Given the description of an element on the screen output the (x, y) to click on. 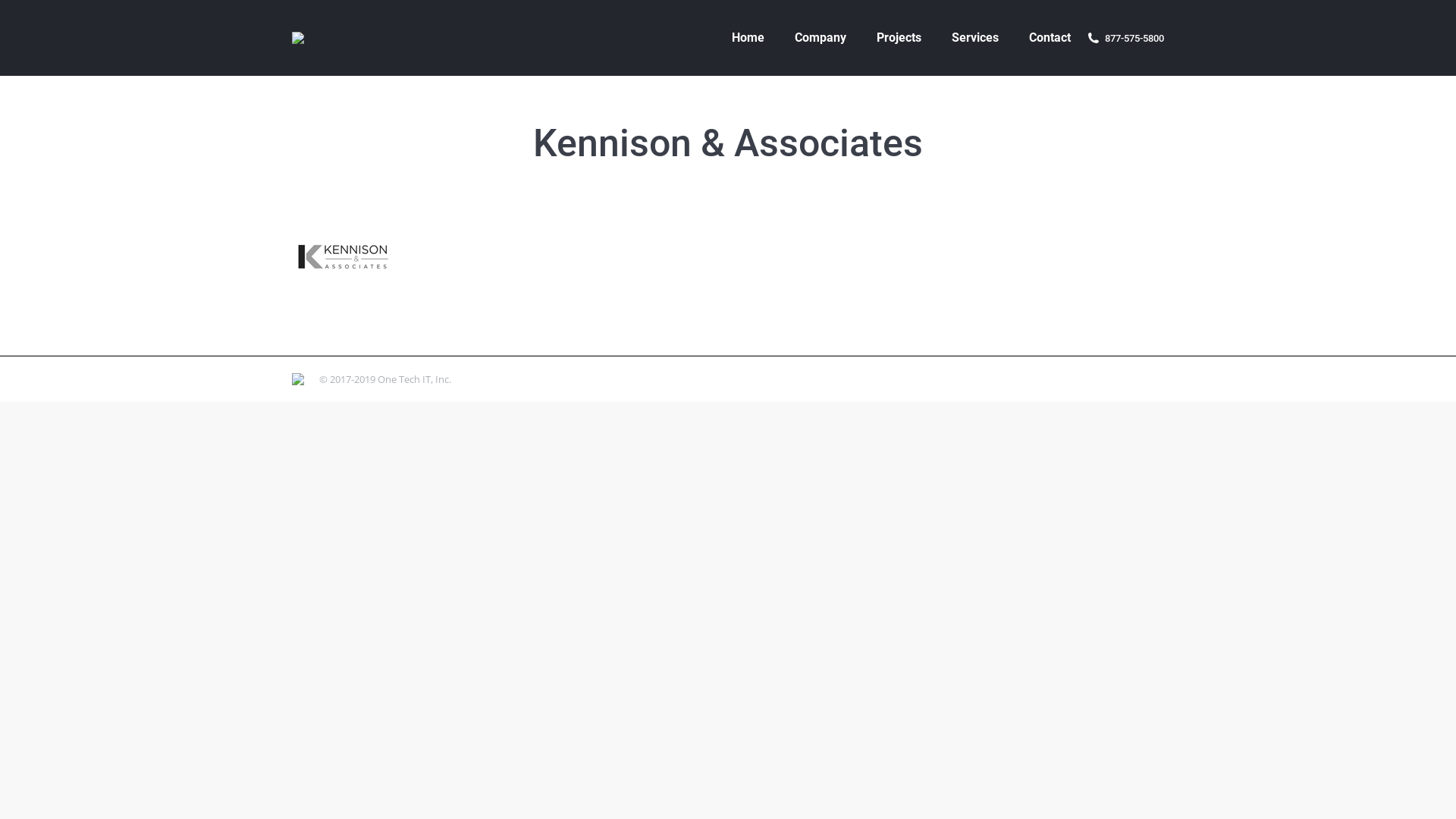
Projects Element type: text (898, 37)
Company Element type: text (820, 37)
Services Element type: text (974, 37)
Contact Element type: text (1049, 37)
Home Element type: text (747, 37)
